Given the description of an element on the screen output the (x, y) to click on. 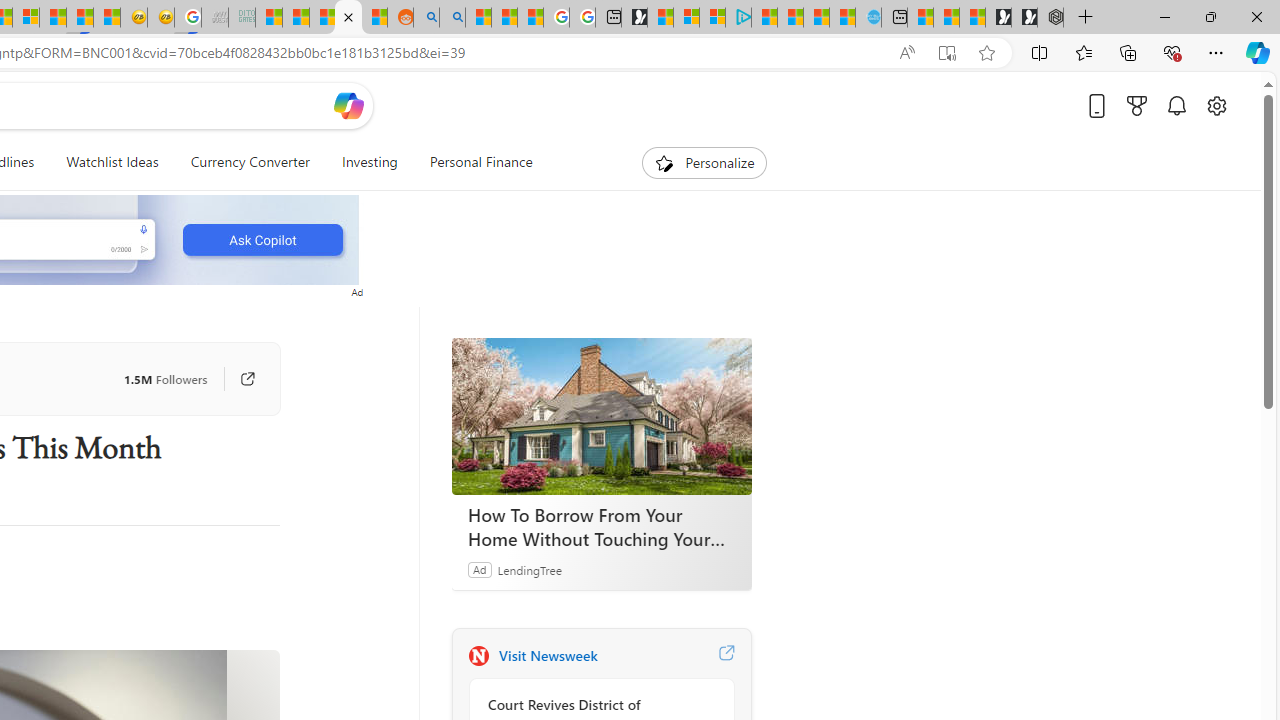
Visit Newsweek website (726, 655)
Watchlist Ideas (112, 162)
Go to publisher's site (237, 378)
